Given the description of an element on the screen output the (x, y) to click on. 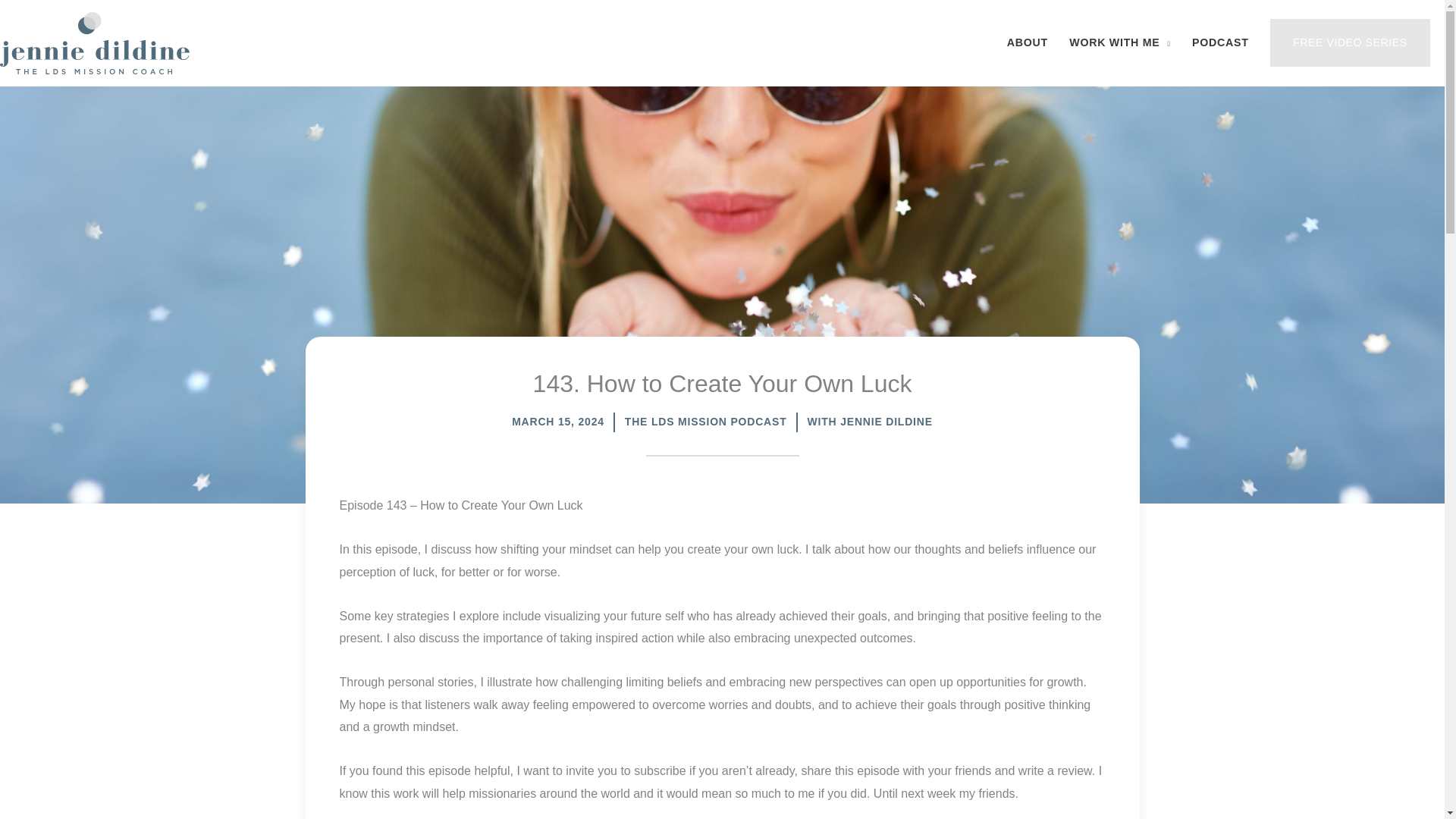
WITH JENNIE DILDINE (868, 422)
ABOUT (1027, 42)
WORK WITH ME (1119, 42)
FREE VIDEO SERIES (1349, 42)
MARCH 15, 2024 (558, 422)
PODCAST (1219, 42)
